Given the description of an element on the screen output the (x, y) to click on. 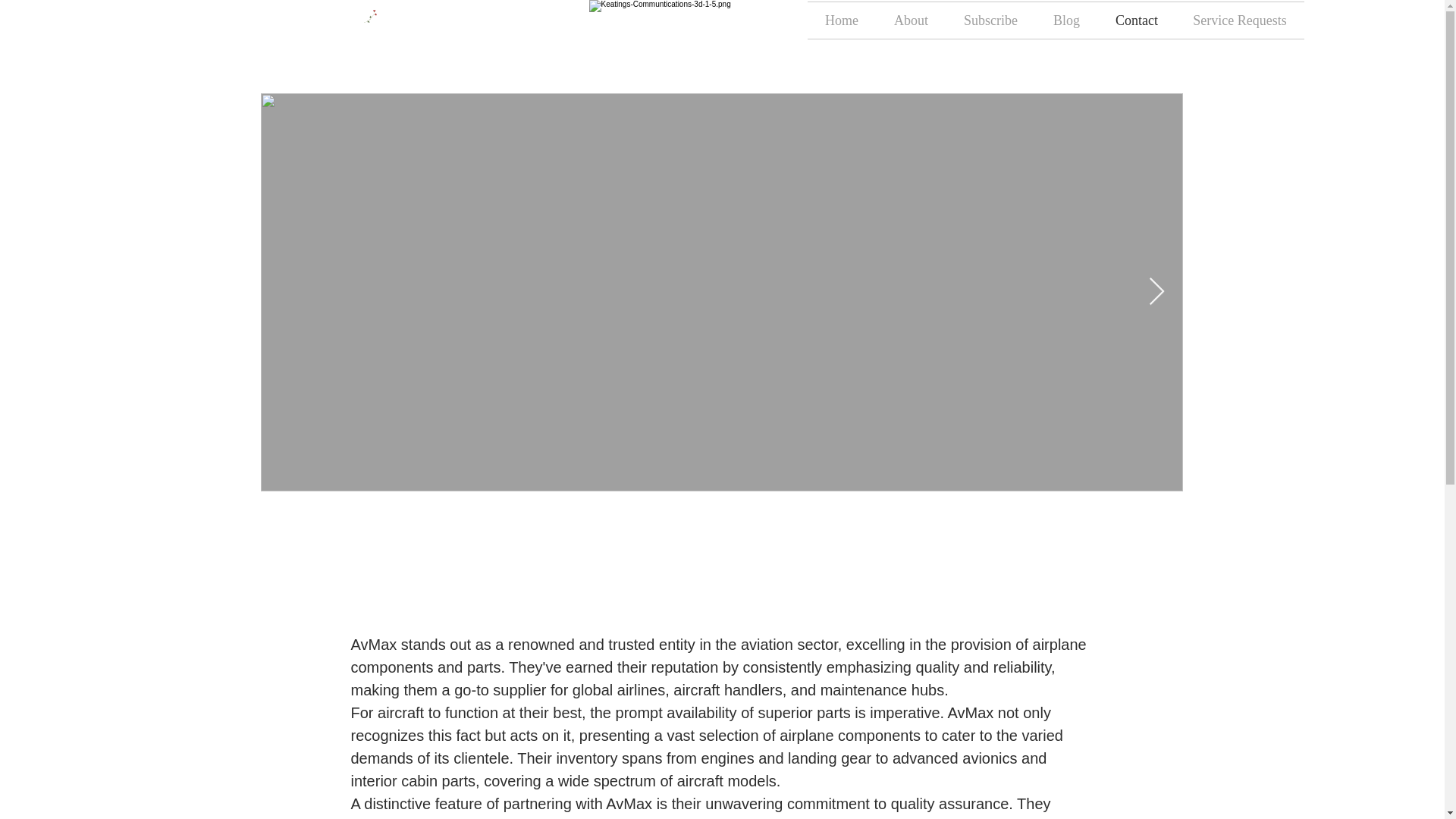
Service Requests (1238, 20)
Subscribe (990, 20)
Contact (1136, 20)
Home (841, 20)
About (911, 20)
Blog (1066, 20)
